Given the description of an element on the screen output the (x, y) to click on. 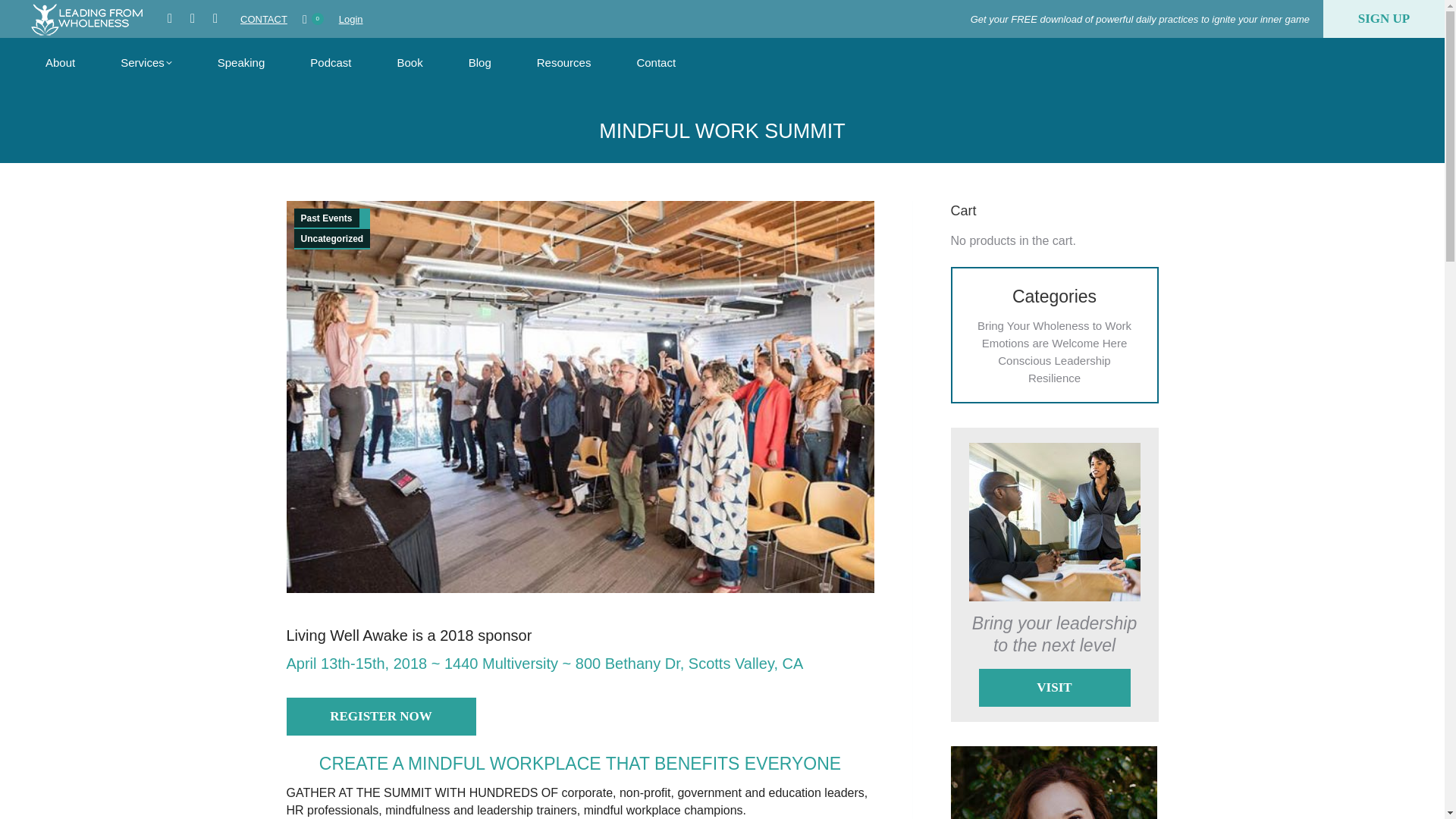
Facebook page opens in new window (169, 18)
Speaking (241, 61)
Instagram page opens in new window (192, 18)
Linkedin page opens in new window (215, 18)
CONTACT (263, 19)
Instagram page opens in new window (192, 18)
Linkedin page opens in new window (215, 18)
 0 (312, 19)
About (59, 61)
Contact (655, 61)
Resources (563, 61)
Podcast (330, 61)
Login (350, 19)
Services (146, 61)
